Given the description of an element on the screen output the (x, y) to click on. 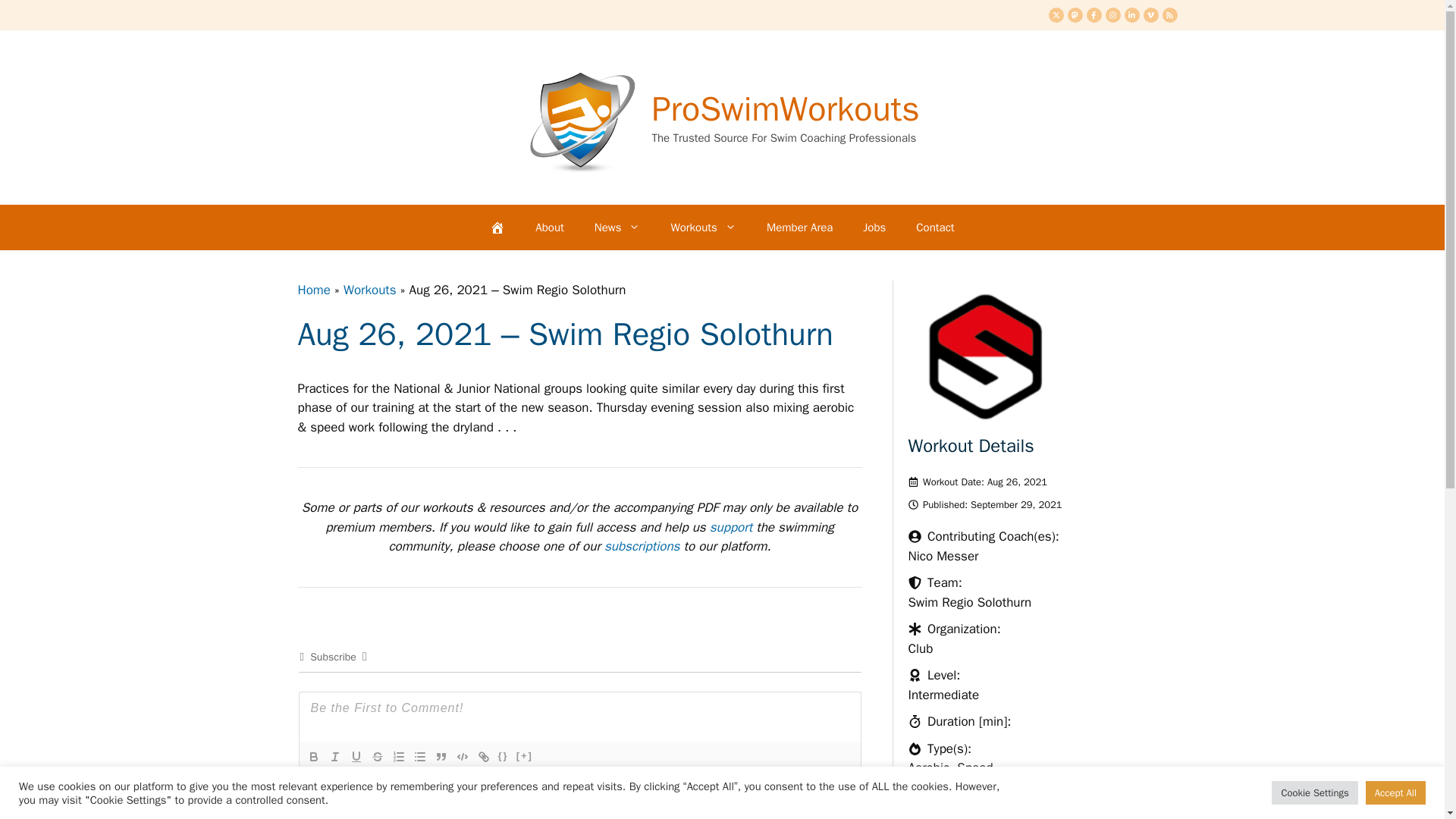
About (548, 227)
Ordered List (398, 756)
ProSwimWorkouts (784, 108)
News (617, 227)
Italic (335, 756)
Blockquote (440, 756)
Underline (356, 756)
Workouts (703, 227)
Become a Member - ProSwimWorkouts.com (641, 546)
subscriptions (641, 546)
support (731, 527)
Unordered List (419, 756)
Jobs (874, 227)
News (617, 227)
Strike (377, 756)
